Given the description of an element on the screen output the (x, y) to click on. 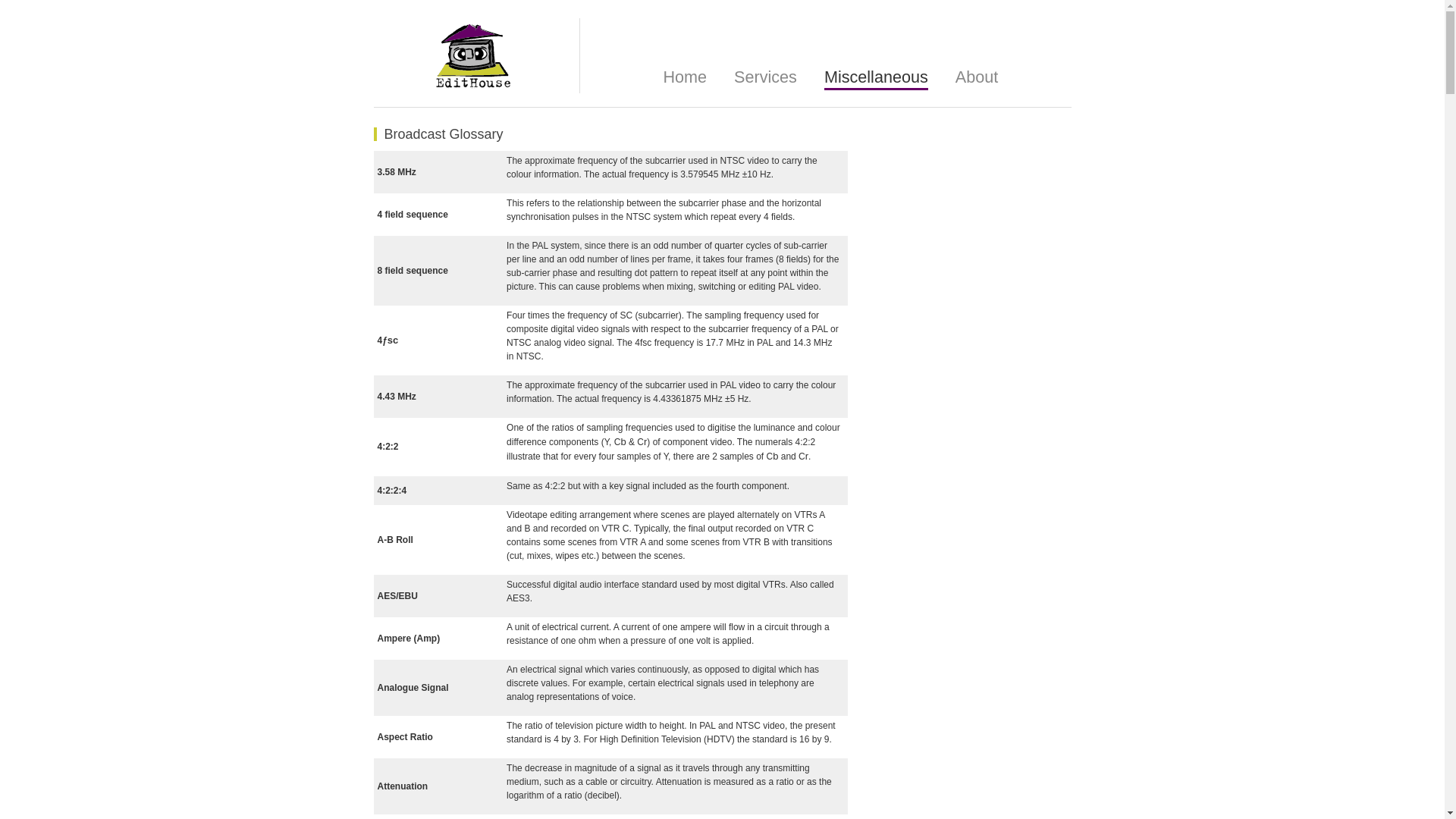
Miscellaneous Element type: text (876, 78)
Home Element type: text (684, 77)
About Element type: text (976, 77)
Services Element type: text (765, 77)
